Given the description of an element on the screen output the (x, y) to click on. 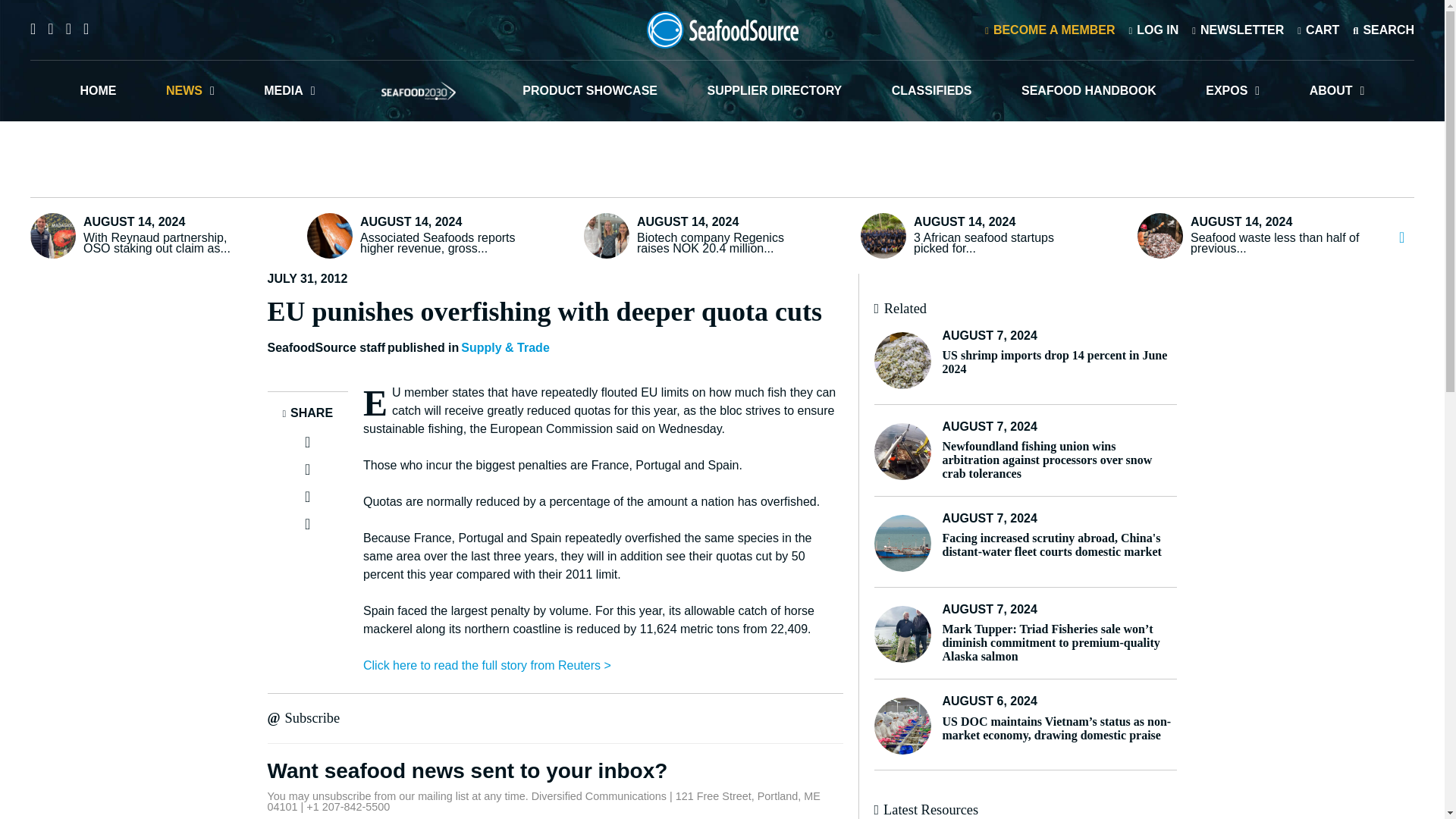
SEARCH (1382, 29)
Subscribe to our newsletter (1238, 29)
Your cart (1318, 29)
Become a member (1050, 29)
LOG IN (1152, 29)
SUPPLIER DIRECTORY (773, 90)
NEWSLETTER (1238, 29)
SEAFOOD2030 (419, 90)
CART (1318, 29)
